Given the description of an element on the screen output the (x, y) to click on. 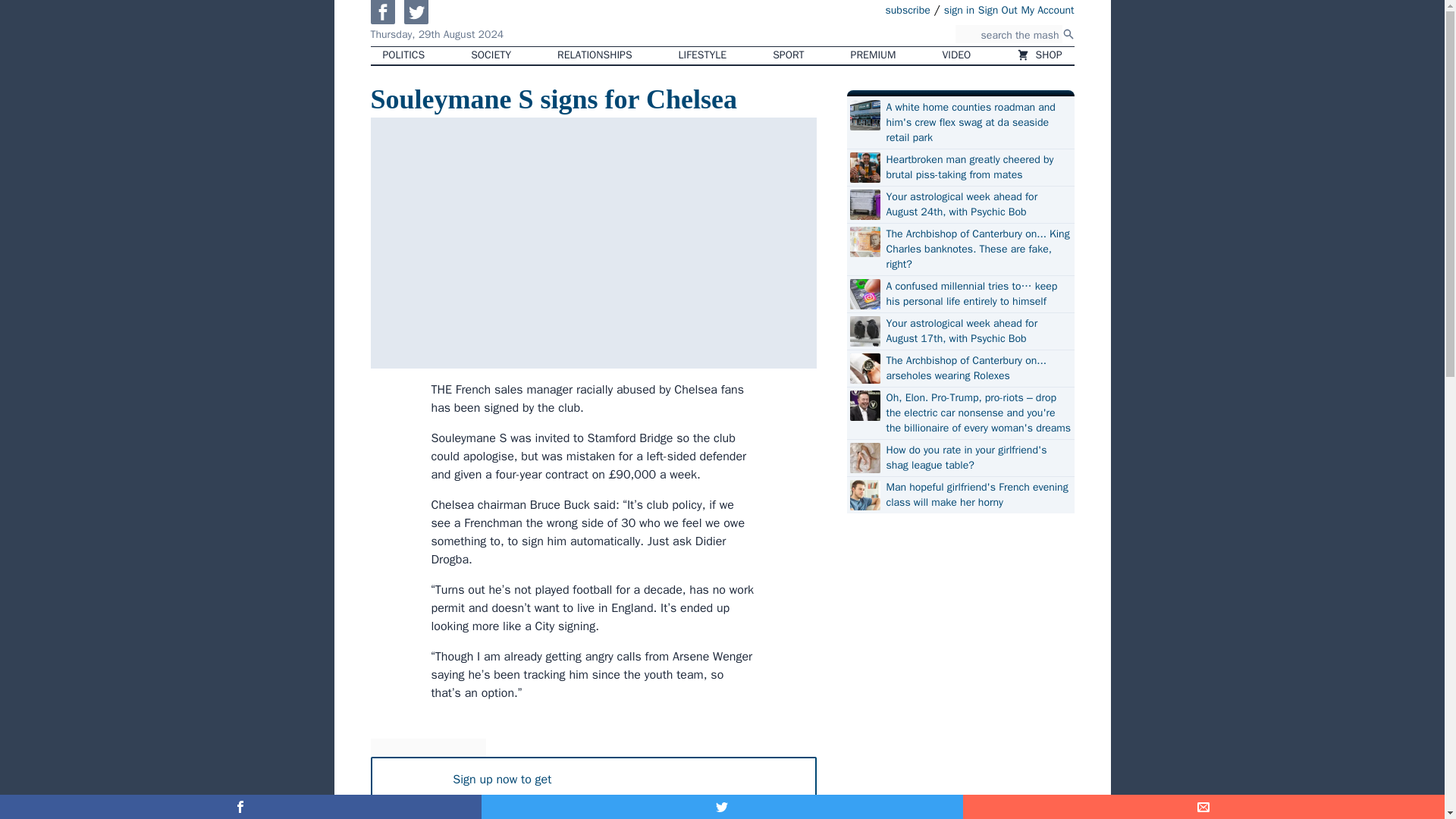
RELATIONSHIPS (593, 55)
Subscribe (738, 810)
Sign Out (997, 9)
SOCIETY (490, 55)
SPORT (787, 55)
LIFESTYLE (702, 55)
SHOP (1039, 55)
